Given the description of an element on the screen output the (x, y) to click on. 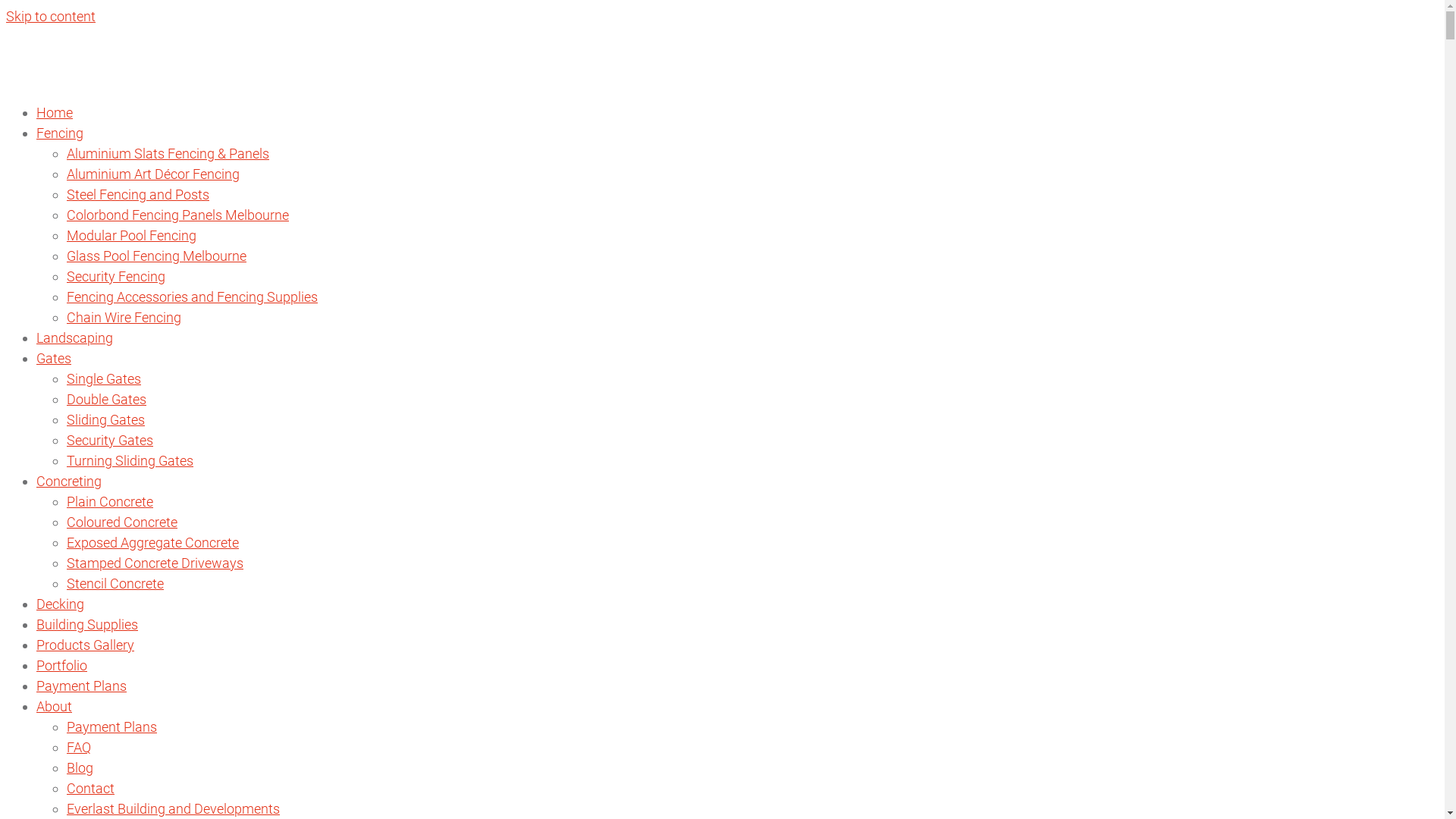
Aluminium Slats Fencing & Panels Element type: text (167, 153)
Contact Element type: text (90, 788)
Fencing Element type: text (59, 133)
Concreting Element type: text (68, 481)
Stamped Concrete Driveways Element type: text (154, 563)
Skip to content Element type: text (50, 16)
Steel Fencing and Posts Element type: text (137, 194)
Chain Wire Fencing Element type: text (123, 317)
Home Element type: text (54, 112)
Chatbot Element type: hover (1383, 757)
Sliding Gates Element type: text (105, 419)
About Element type: text (54, 706)
Security Gates Element type: text (109, 440)
Payment Plans Element type: text (81, 685)
Payment Plans Element type: text (111, 726)
Plain Concrete Element type: text (109, 501)
FAQ Element type: text (78, 747)
Decking Element type: text (60, 603)
Portfolio Element type: text (61, 665)
Everlast Building and Developments Element type: text (172, 808)
Gates Element type: text (53, 358)
Exposed Aggregate Concrete Element type: text (152, 542)
Coloured Concrete Element type: text (121, 522)
Blog Element type: text (79, 767)
Building Supplies Element type: text (87, 624)
Turning Sliding Gates Element type: text (129, 460)
Security Fencing Element type: text (115, 276)
Stencil Concrete Element type: text (114, 583)
Double Gates Element type: text (106, 399)
Products Gallery Element type: text (85, 644)
Colorbond Fencing Panels Melbourne Element type: text (177, 214)
Fencing Accessories and Fencing Supplies Element type: text (191, 296)
Landscaping Element type: text (74, 337)
Glass Pool Fencing Melbourne Element type: text (156, 255)
Modular Pool Fencing Element type: text (131, 235)
Single Gates Element type: text (103, 378)
